Given the description of an element on the screen output the (x, y) to click on. 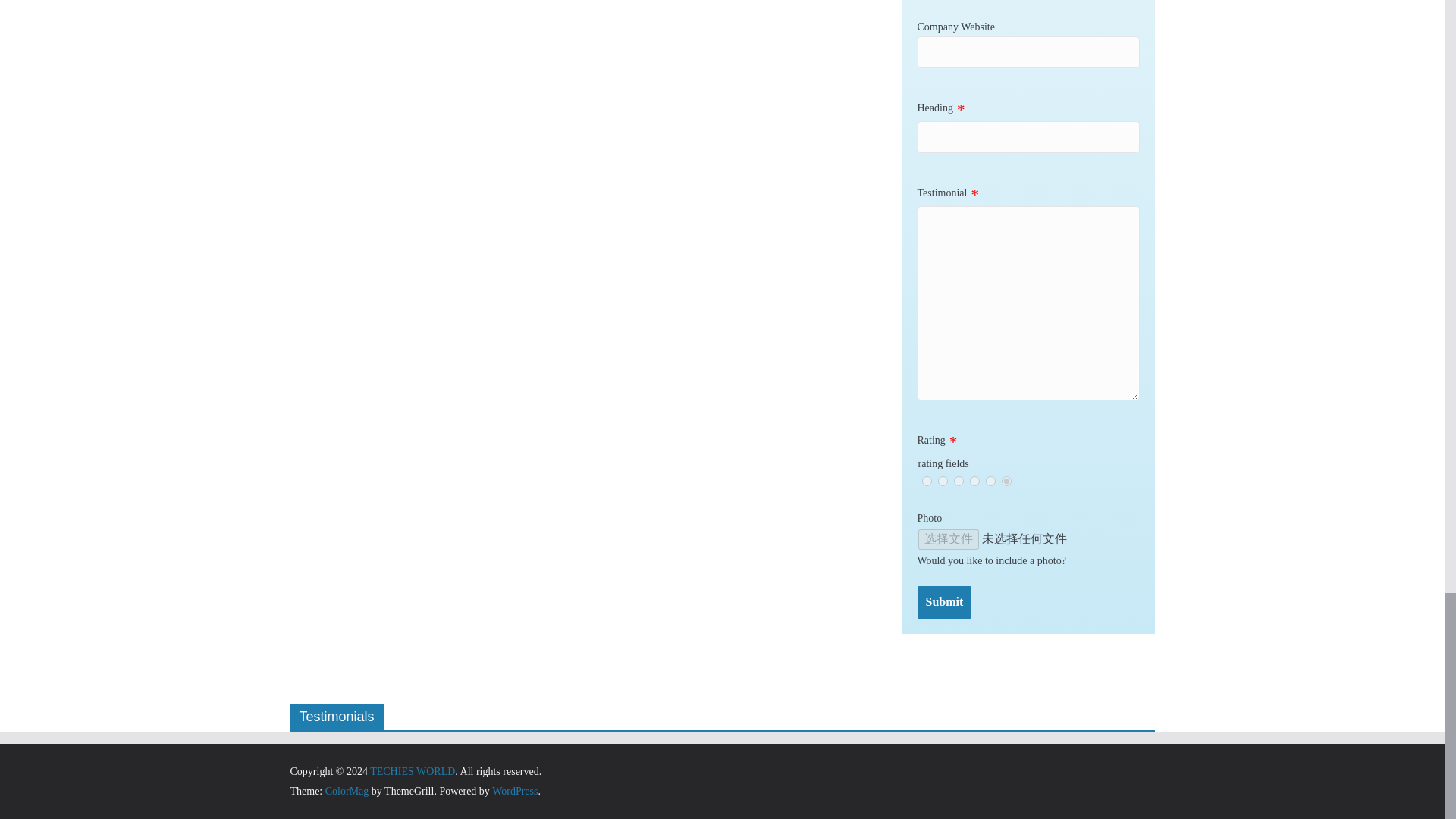
TECHIES WORLD (411, 771)
3 (973, 480)
5 (1005, 480)
ColorMag (346, 790)
WordPress (514, 790)
0 (926, 480)
2 (958, 480)
Submit (944, 602)
Submit (944, 602)
1 (942, 480)
